Given the description of an element on the screen output the (x, y) to click on. 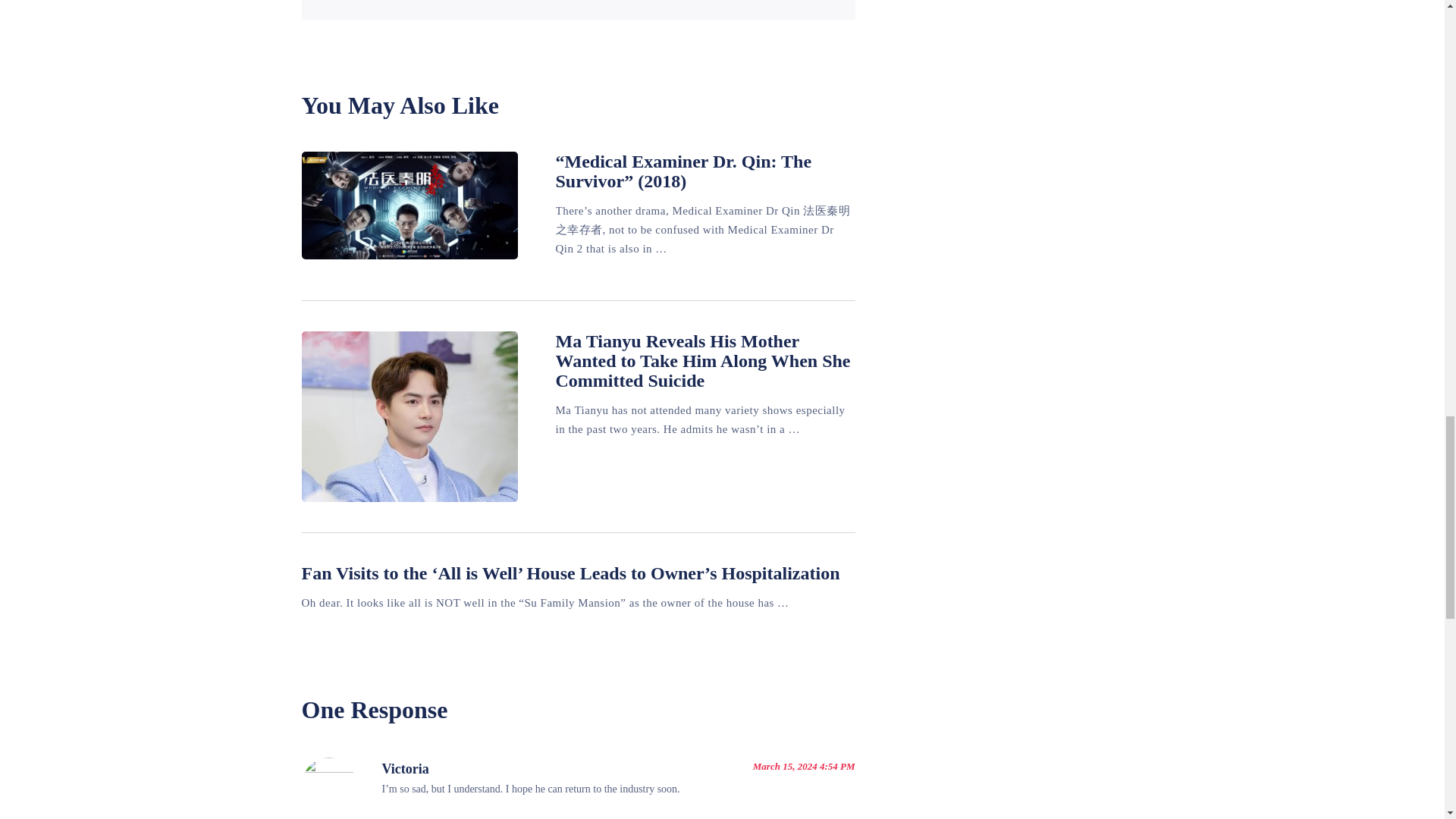
REPLY (828, 818)
